Given the description of an element on the screen output the (x, y) to click on. 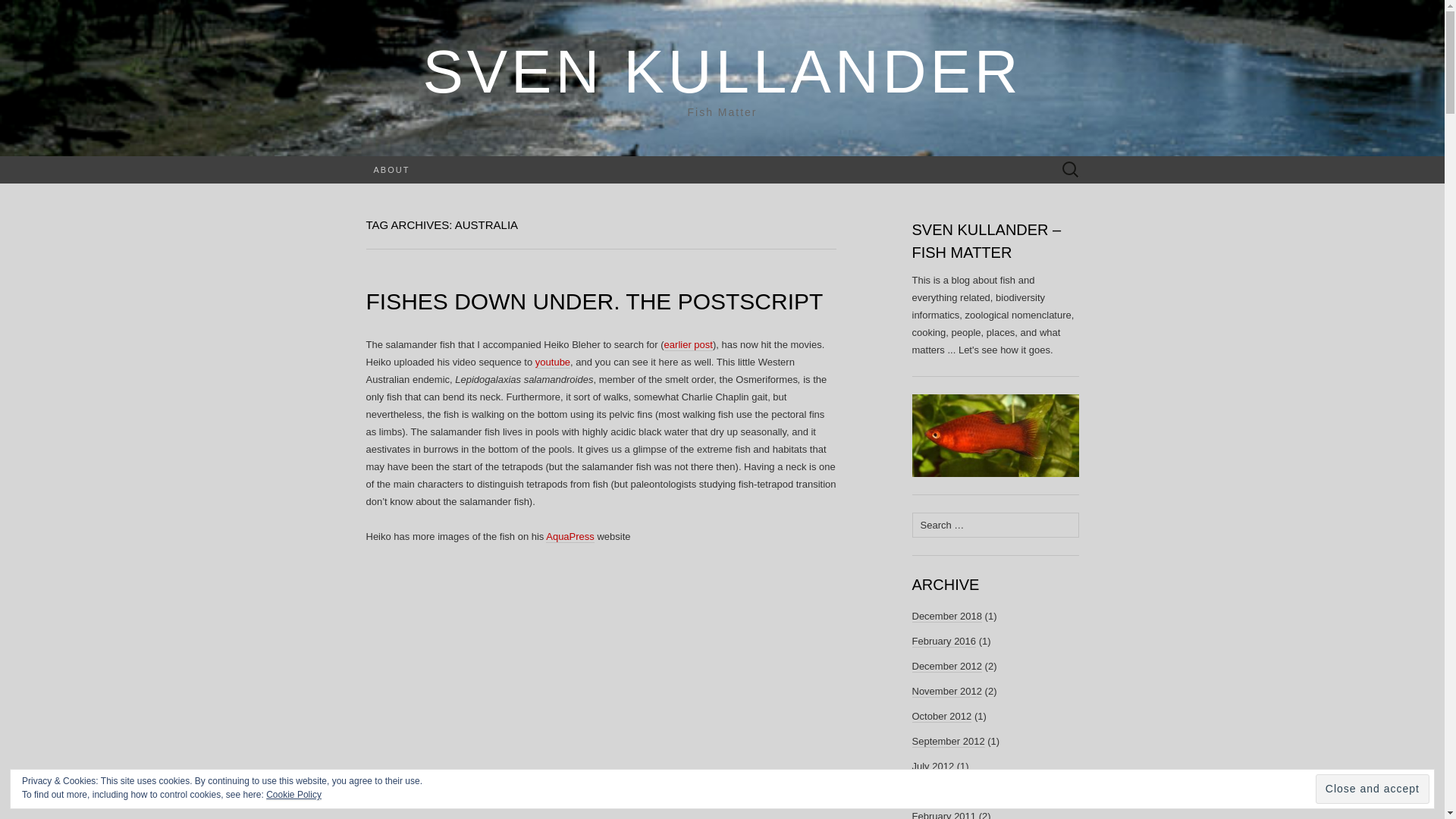
SVEN KULLANDER (722, 71)
Search (16, 12)
earlier post (688, 345)
Sven Kullander (722, 71)
FISHES DOWN UNDER. THE POSTSCRIPT (593, 301)
Close and accept (1372, 788)
youtube (552, 362)
AquaPress (570, 536)
ABOUT (391, 169)
